Given the description of an element on the screen output the (x, y) to click on. 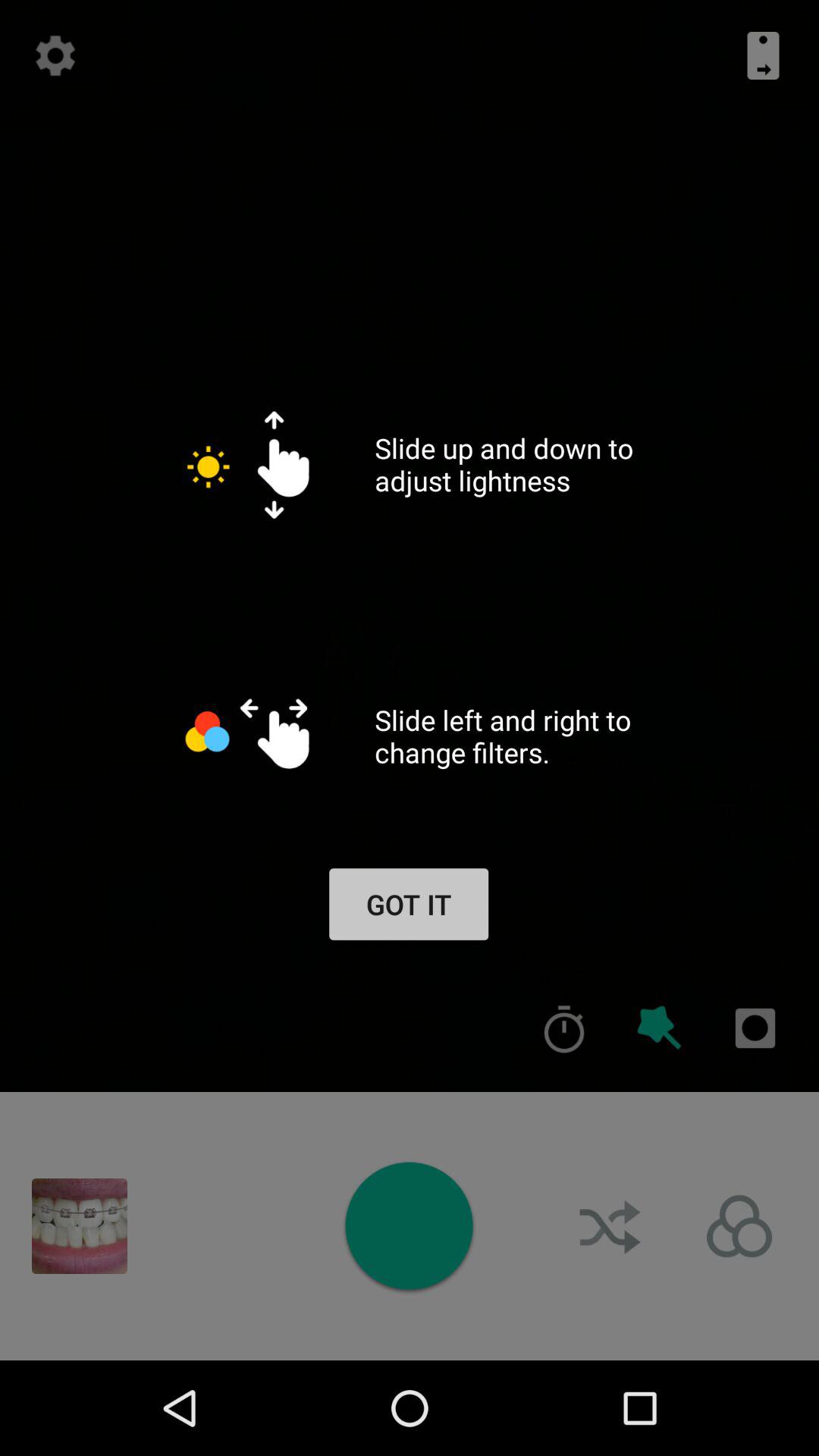
launch item below the slide left and app (659, 1028)
